Given the description of an element on the screen output the (x, y) to click on. 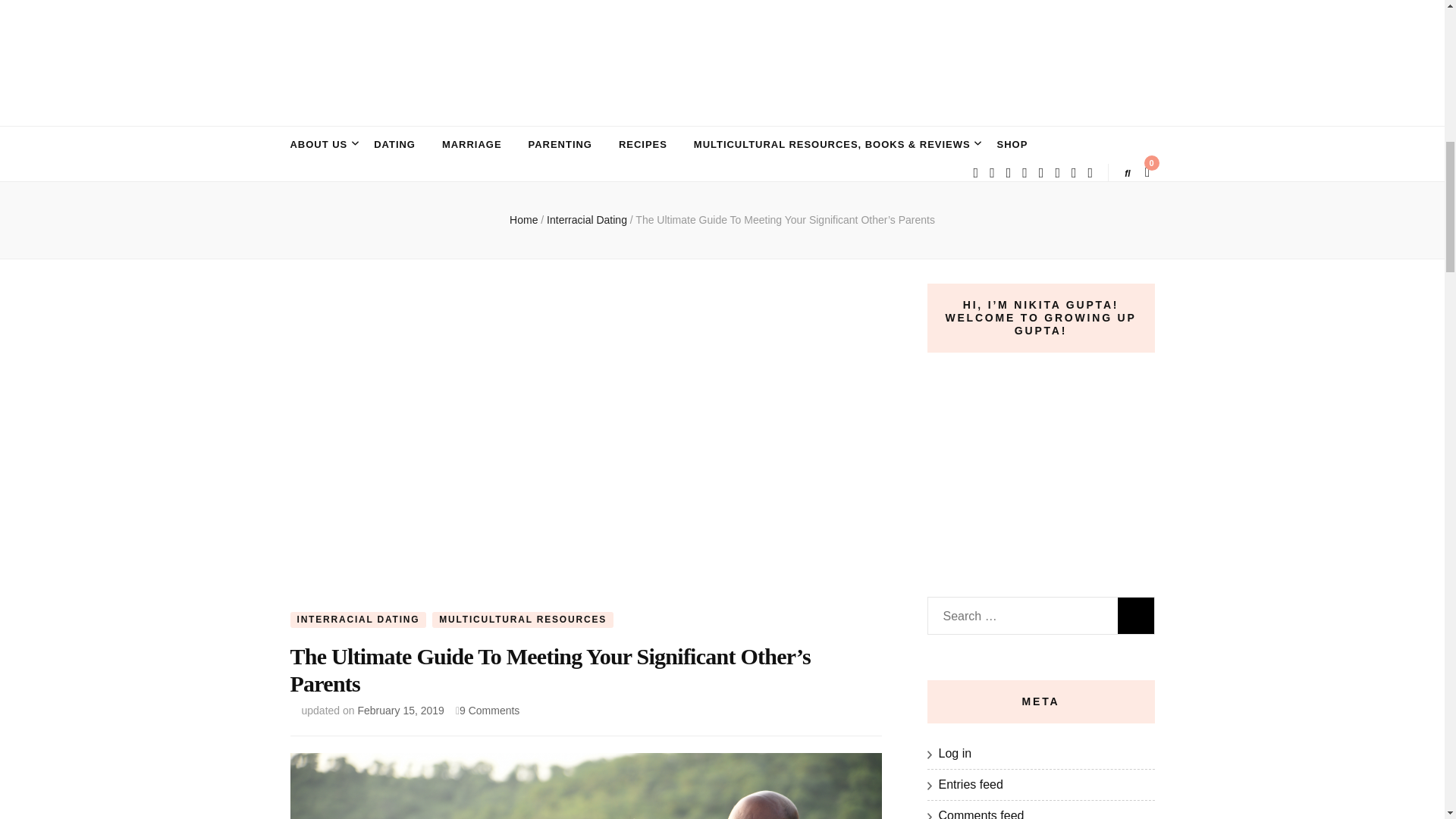
ABOUT US (318, 144)
SHOP (1012, 144)
MULTICULTURAL RESOURCES (522, 619)
Search (1136, 615)
Interracial Dating (588, 219)
Growing Up Gupta (468, 112)
MARRIAGE (472, 144)
February 15, 2019 (400, 710)
Home (523, 219)
DATING (394, 144)
